Given the description of an element on the screen output the (x, y) to click on. 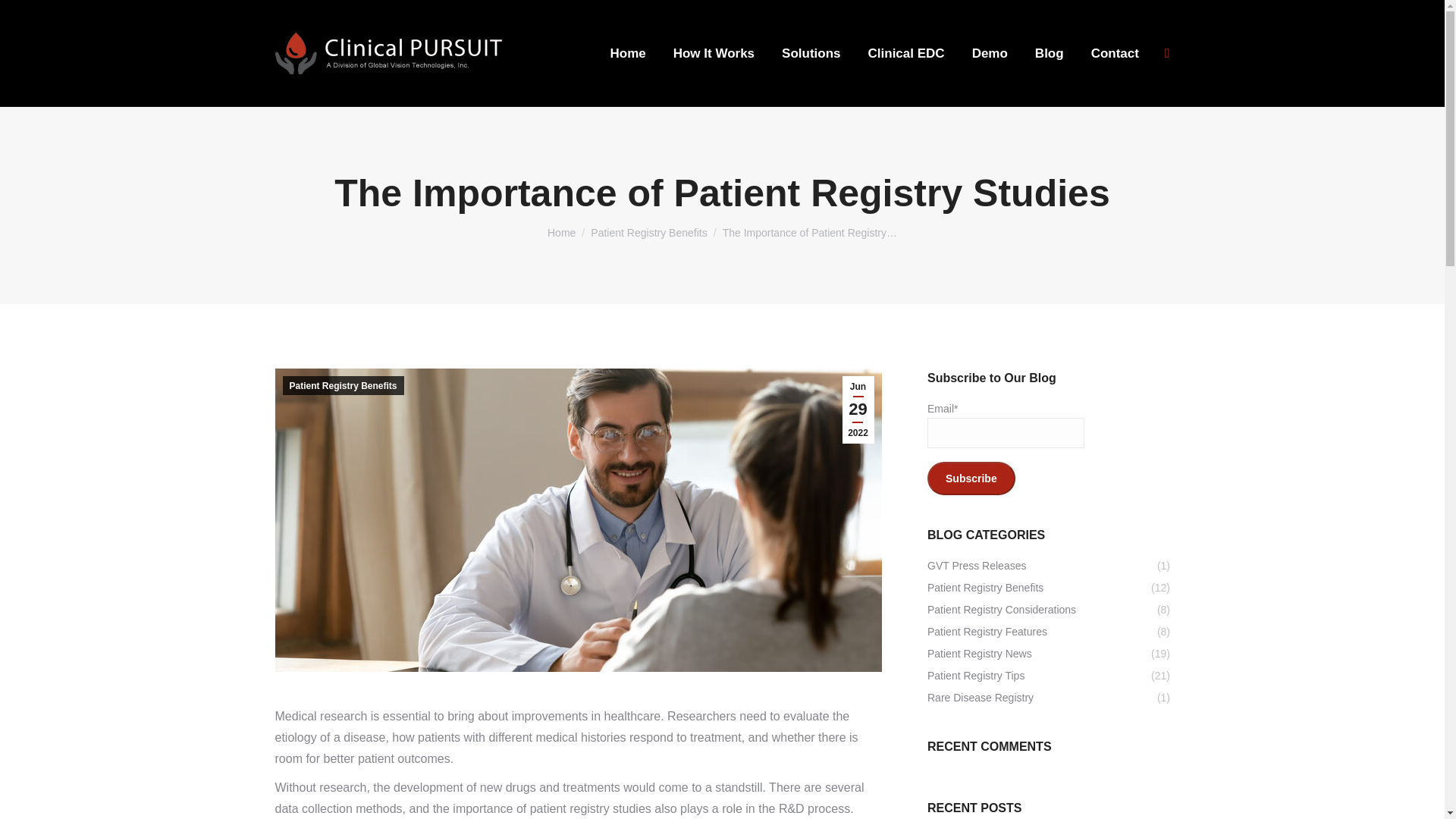
Home (561, 232)
Demo (989, 53)
Blog (1049, 53)
Contact (1114, 53)
Home (627, 53)
Solutions (810, 53)
Subscribe (970, 478)
Go! (27, 16)
Patient Registry Benefits (648, 232)
